Given the description of an element on the screen output the (x, y) to click on. 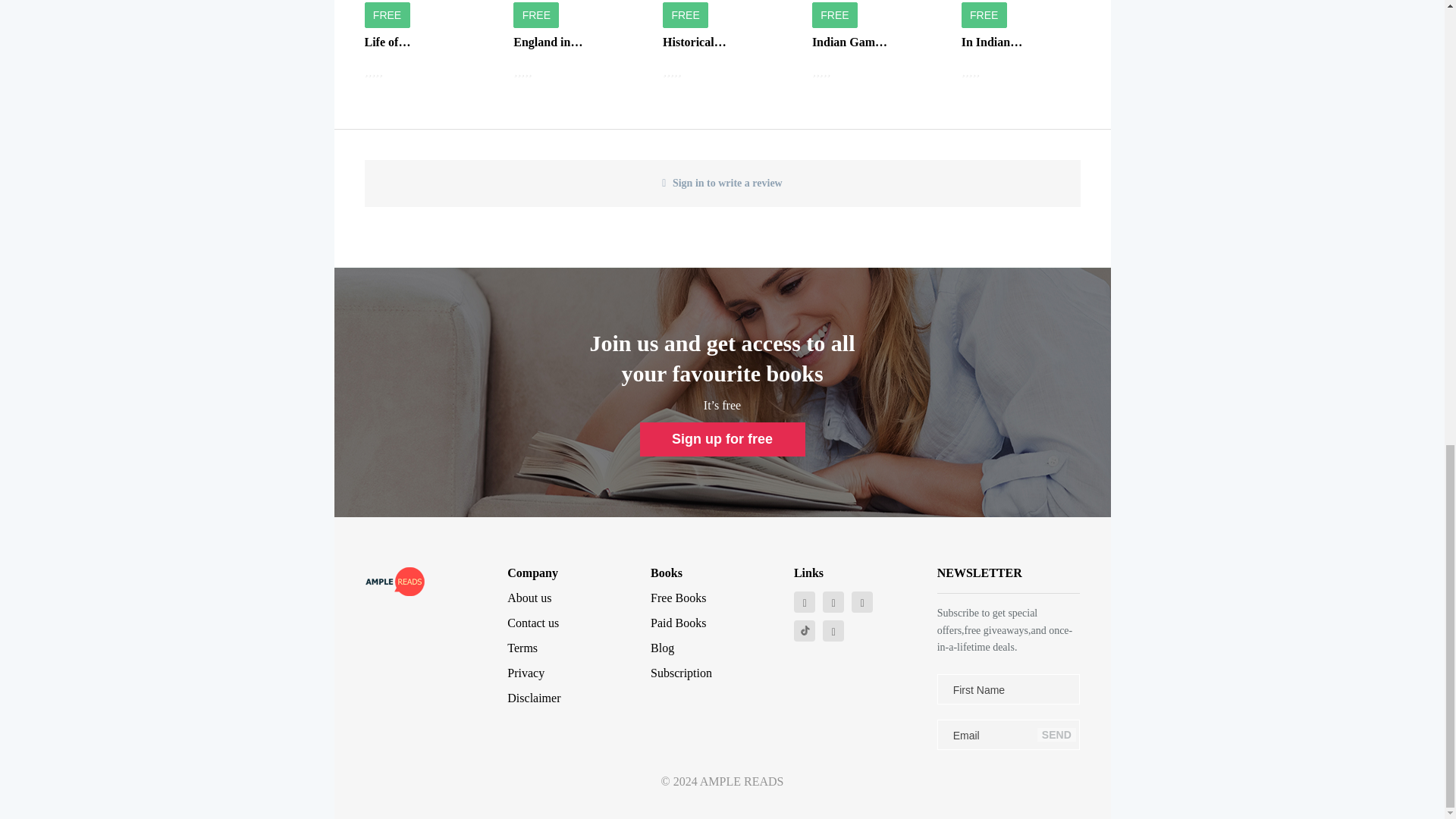
Created with Fabric.js 1.7.22 (804, 630)
